Given the description of an element on the screen output the (x, y) to click on. 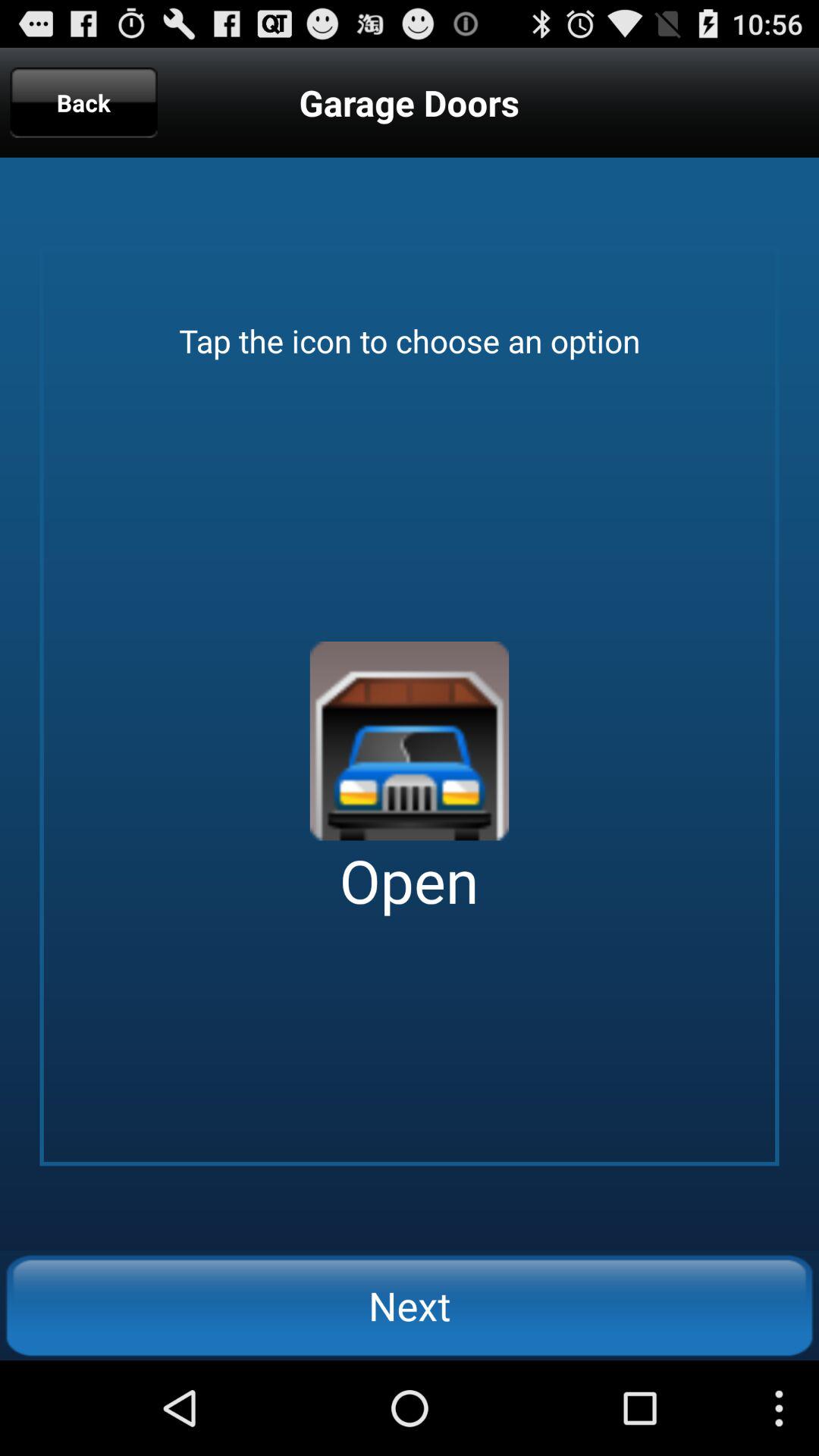
launch the icon below the open app (409, 1305)
